Given the description of an element on the screen output the (x, y) to click on. 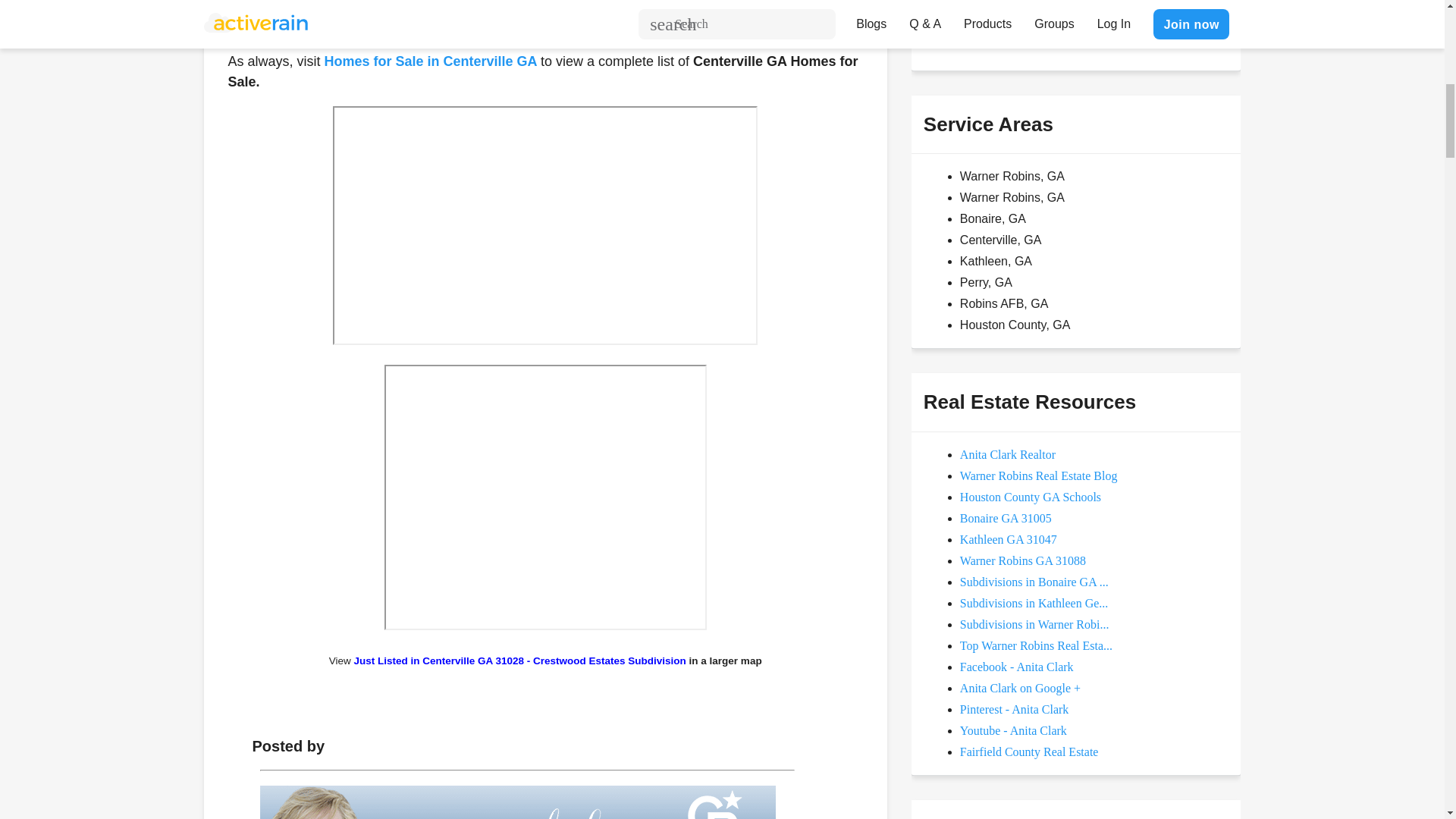
Homes for Sale in Centerville GA (432, 61)
Send Message (978, 30)
Anita Clark Realtor (516, 802)
